Given the description of an element on the screen output the (x, y) to click on. 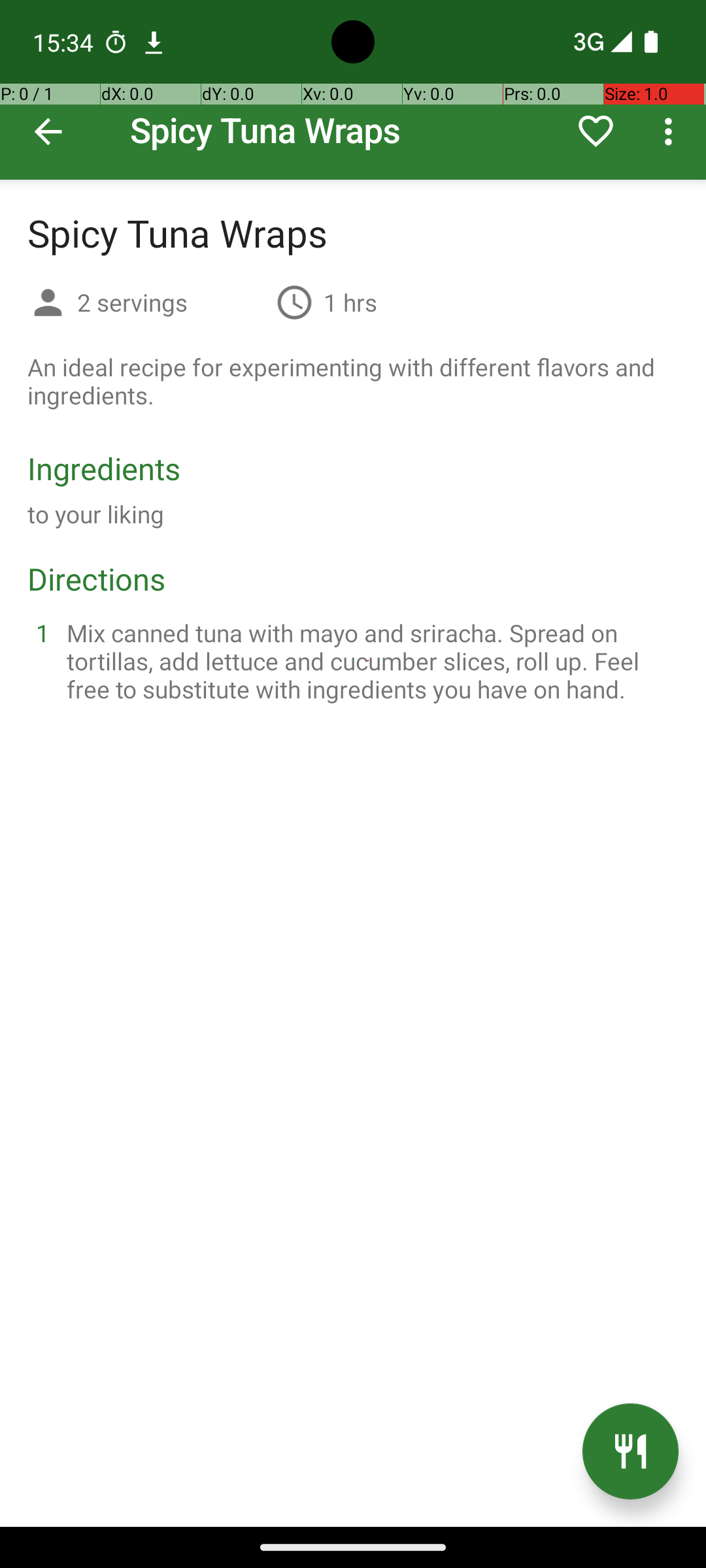
Spicy Tuna Wraps Element type: android.widget.FrameLayout (353, 89)
Mix canned tuna with mayo and sriracha. Spread on tortillas, add lettuce and cucumber slices, roll up. Feel free to substitute with ingredients you have on hand. Element type: android.widget.TextView (368, 660)
